Given the description of an element on the screen output the (x, y) to click on. 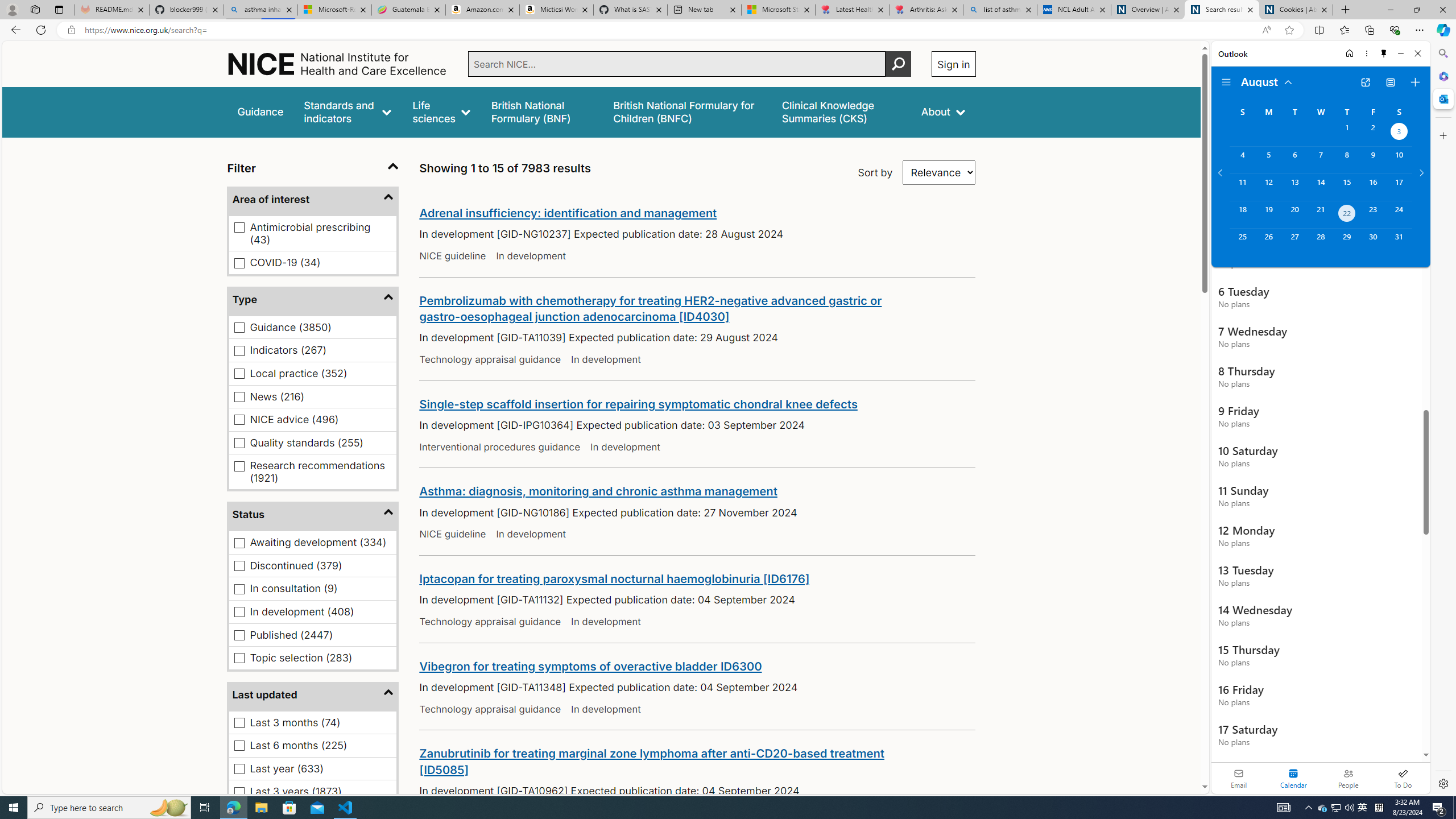
Saturday, August 31, 2024.  (1399, 241)
Guidance (260, 111)
NCL Adult Asthma Inhaler Choice Guideline (1073, 9)
Guidance (260, 111)
Research recommendations (1921) (239, 465)
Tuesday, August 20, 2024.  (1294, 214)
Friday, August 23, 2024.  (1372, 214)
Saturday, August 24, 2024.  (1399, 214)
Arthritis: Ask Health Professionals (925, 9)
Topic selection (283) (239, 657)
Thursday, August 22, 2024. Today.  (1346, 214)
Life sciences (440, 111)
